Given the description of an element on the screen output the (x, y) to click on. 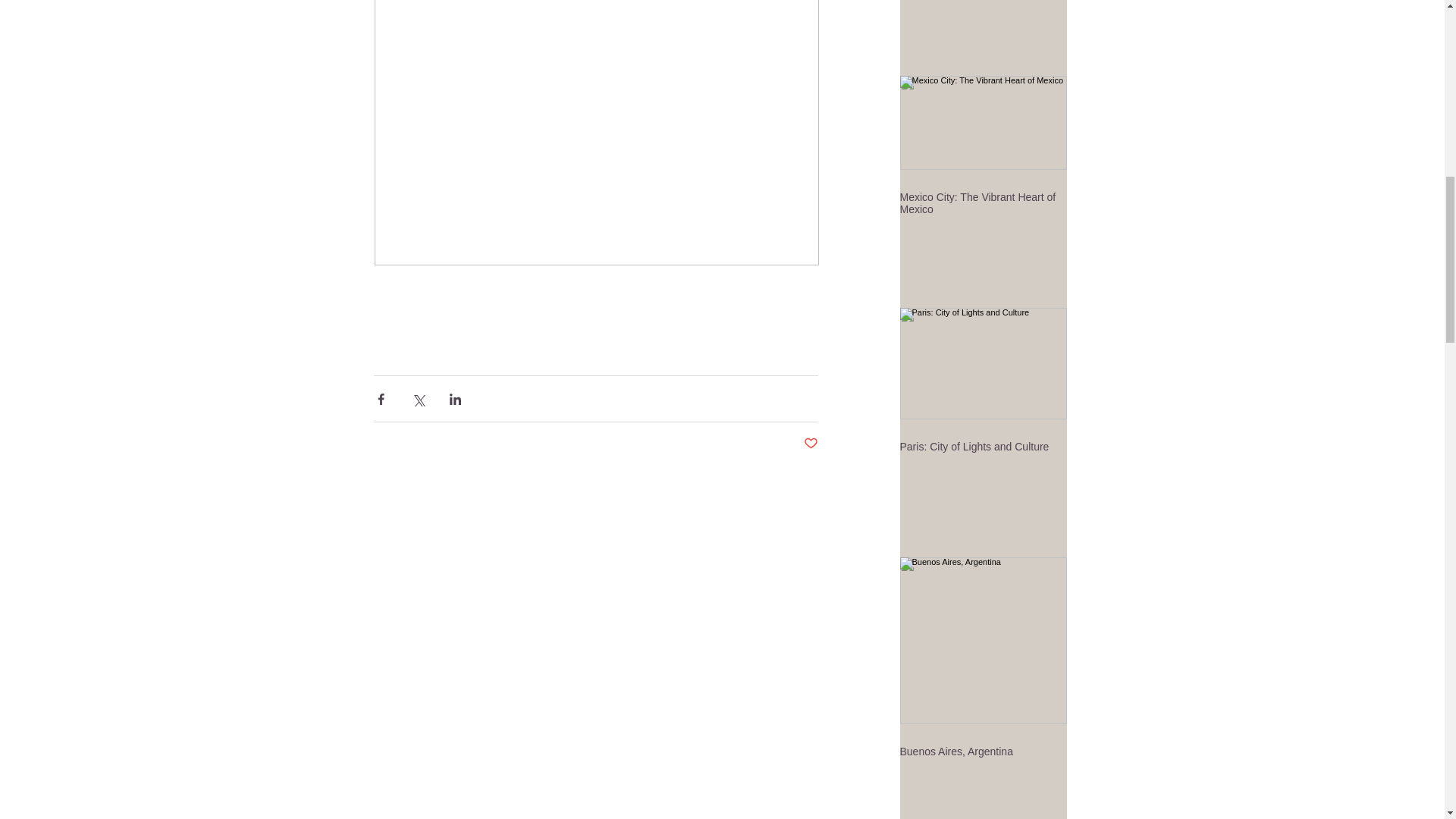
Mexico City: The Vibrant Heart of Mexico (982, 202)
Post not marked as liked (810, 443)
Paris: City of Lights and Culture (982, 446)
Buenos Aires, Argentina (982, 751)
